Given the description of an element on the screen output the (x, y) to click on. 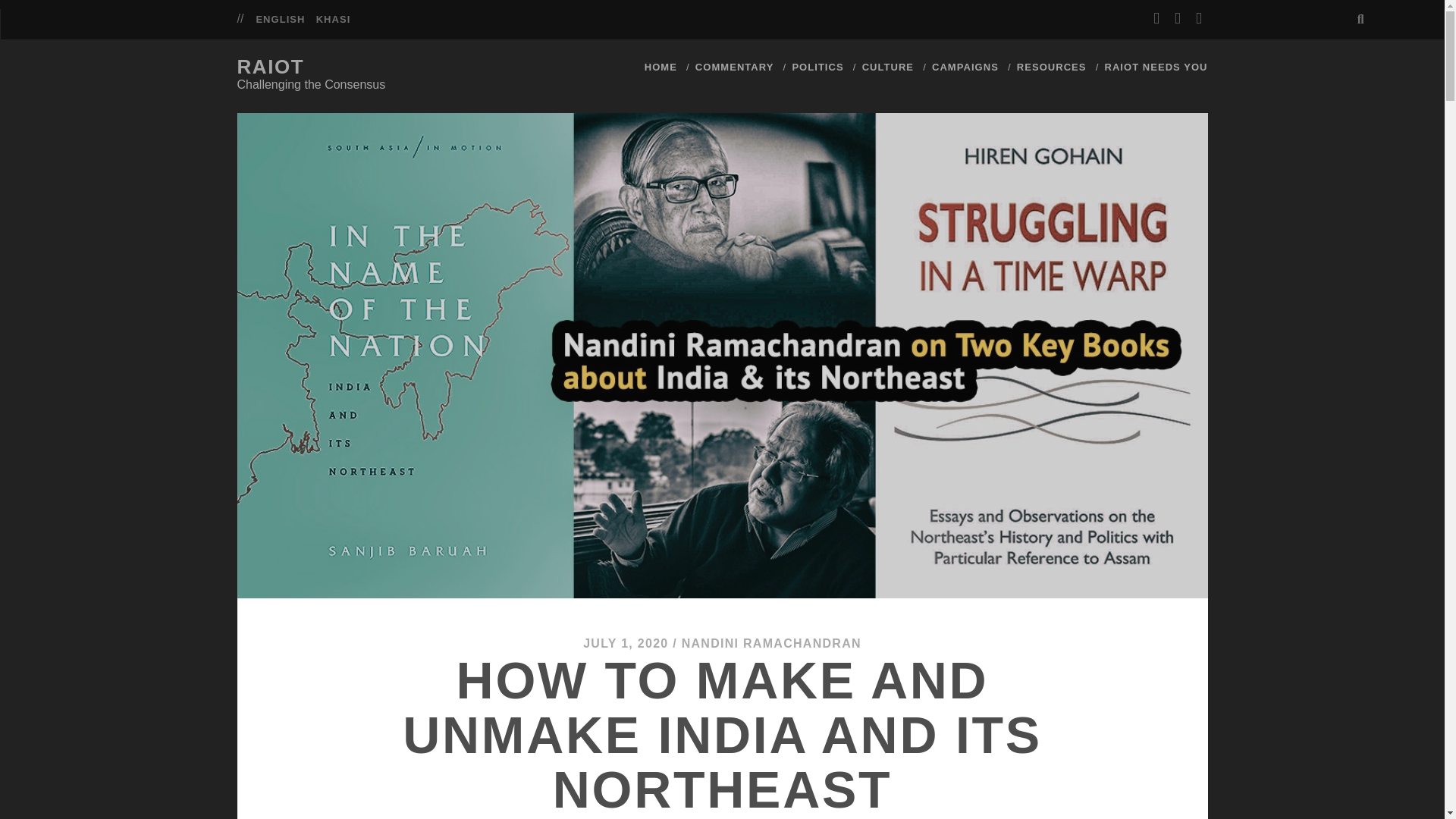
Posts by Nandini Ramachandran (771, 643)
RAIOT (269, 66)
HOME (661, 67)
KHASI (332, 19)
CULTURE (887, 67)
POLITICS (817, 67)
ENGLISH (280, 19)
NANDINI RAMACHANDRAN (771, 643)
CAMPAIGNS (964, 67)
RAIOT NEEDS YOU (1155, 67)
COMMENTARY (734, 67)
RESOURCES (1051, 67)
